Given the description of an element on the screen output the (x, y) to click on. 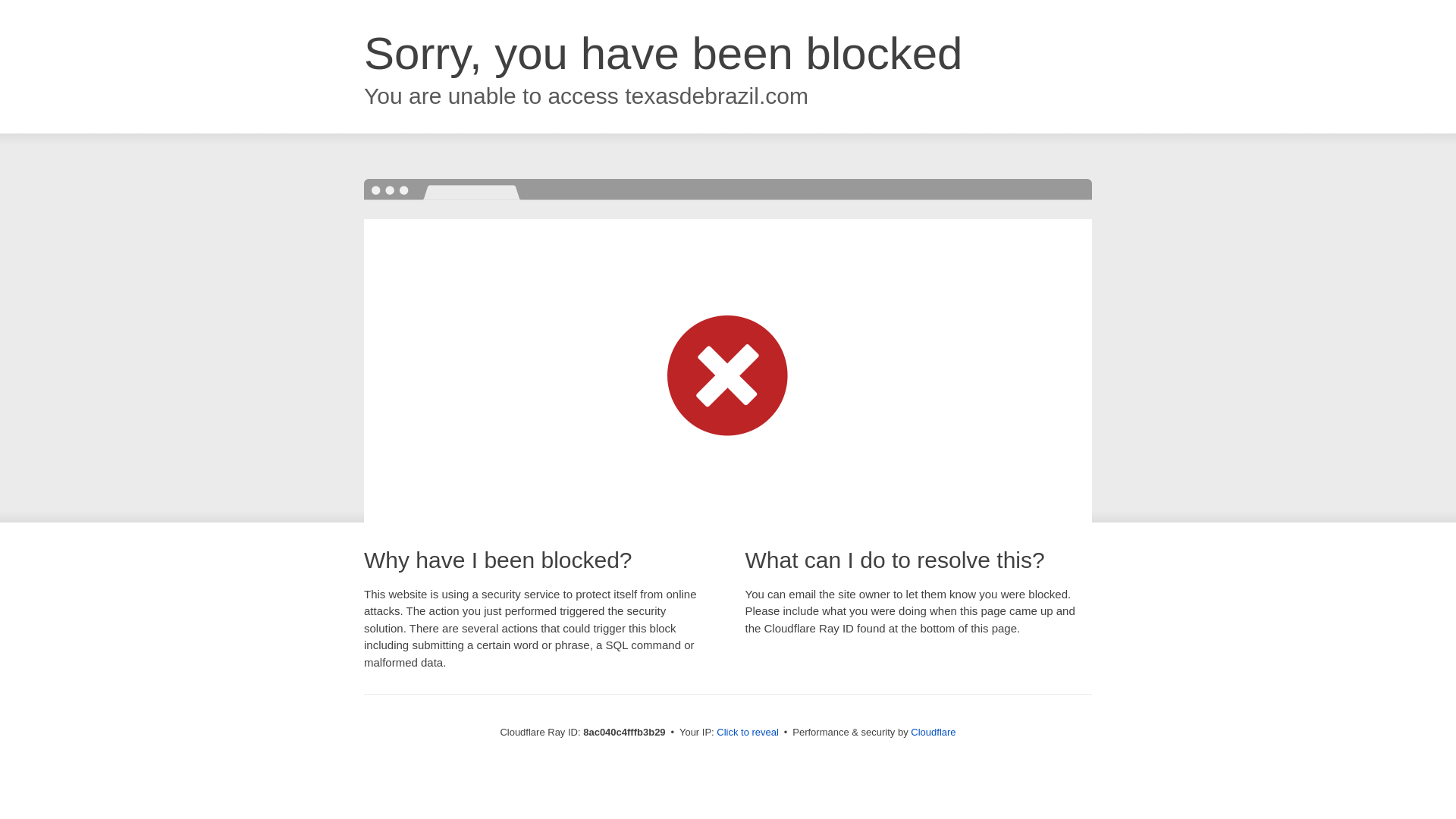
Cloudflare (933, 731)
Click to reveal (747, 732)
